Given the description of an element on the screen output the (x, y) to click on. 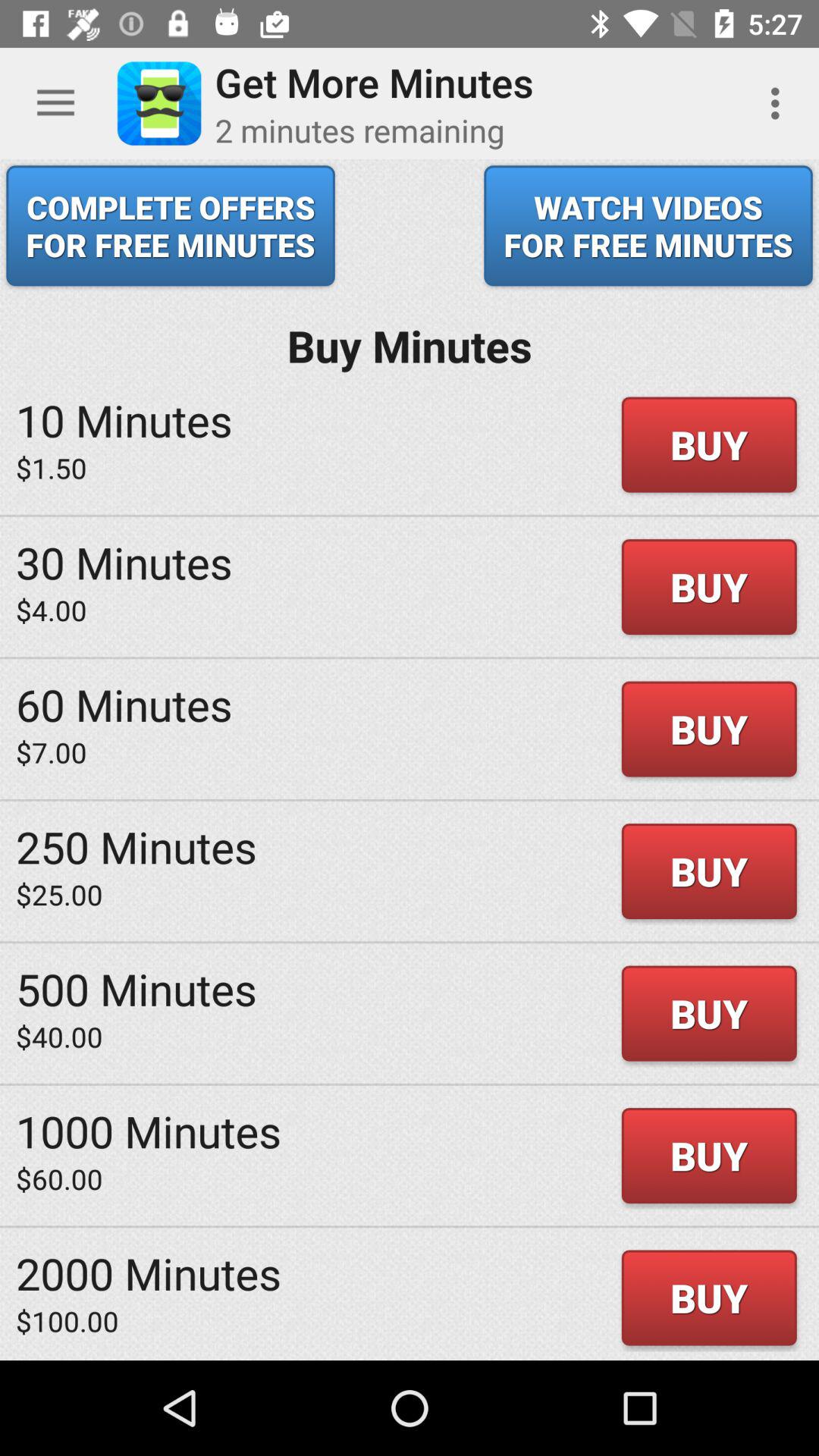
jump until 500 minutes icon (136, 988)
